Given the description of an element on the screen output the (x, y) to click on. 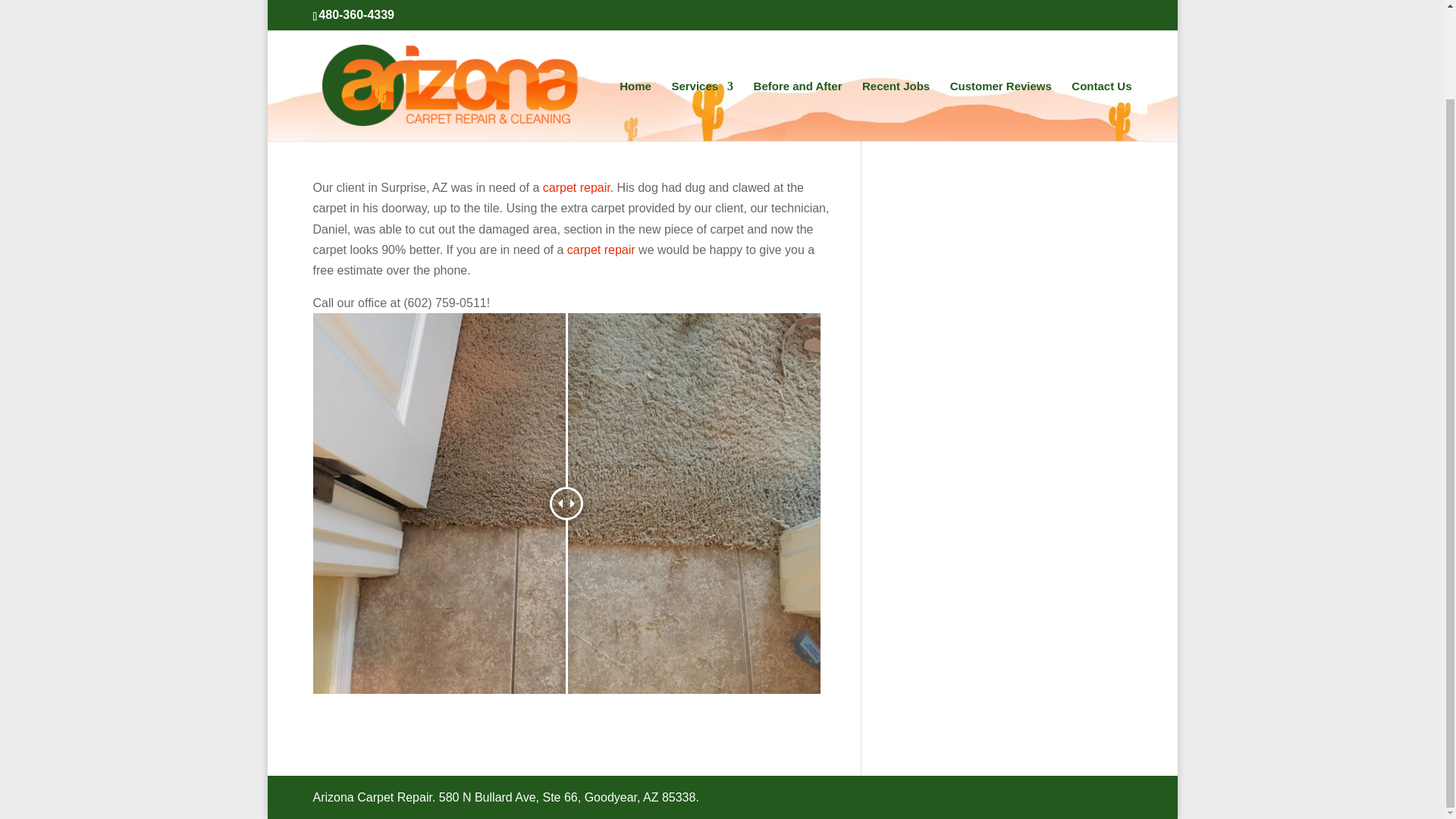
Before and After (798, 19)
Services (702, 19)
Customer Reviews (1000, 19)
carpet repair (600, 249)
carpet repair (576, 187)
Recent Jobs (895, 19)
Contact Us (1101, 19)
